Given the description of an element on the screen output the (x, y) to click on. 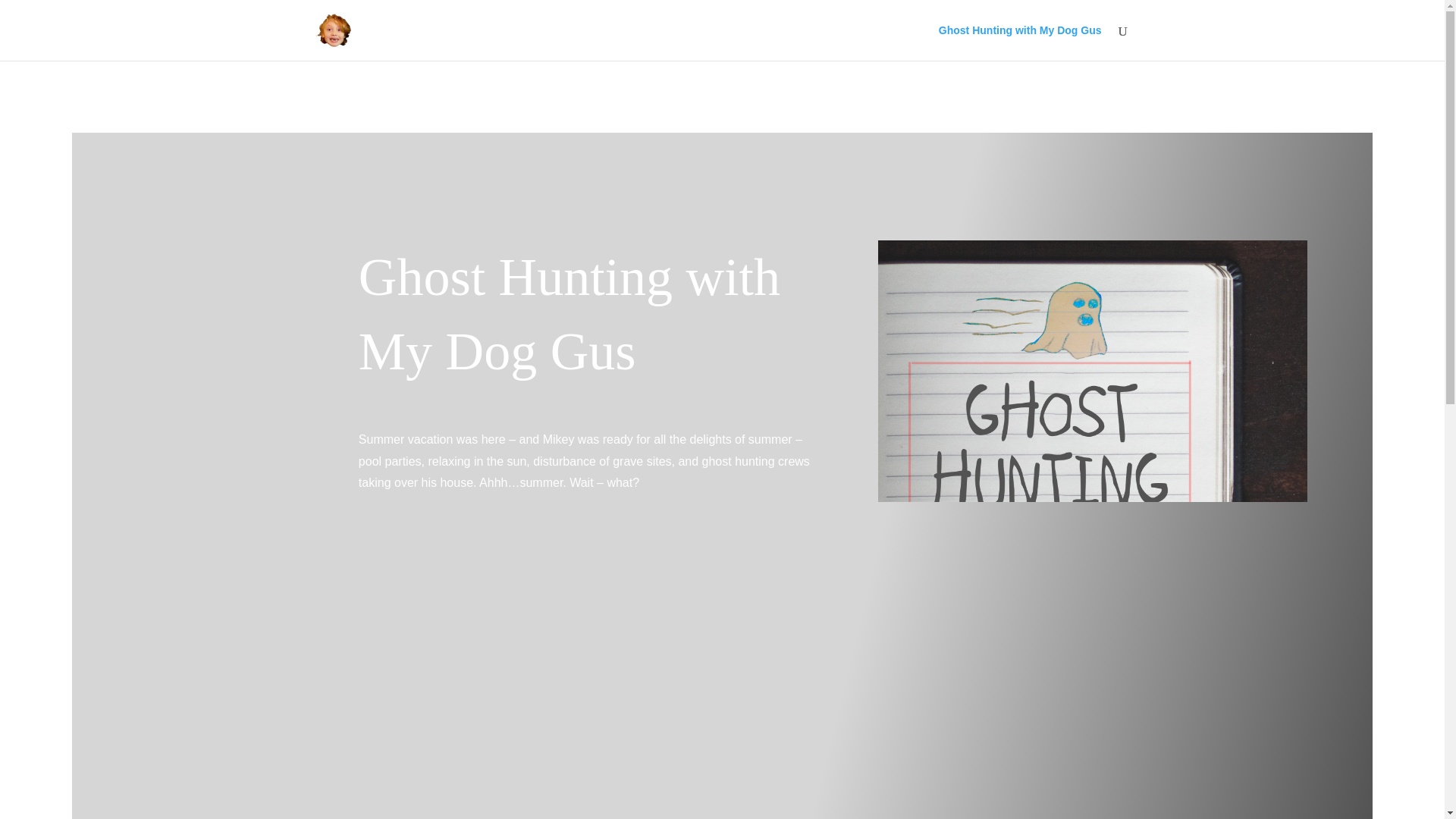
Ghost Hunting with My Dog Gus (1020, 42)
